Given the description of an element on the screen output the (x, y) to click on. 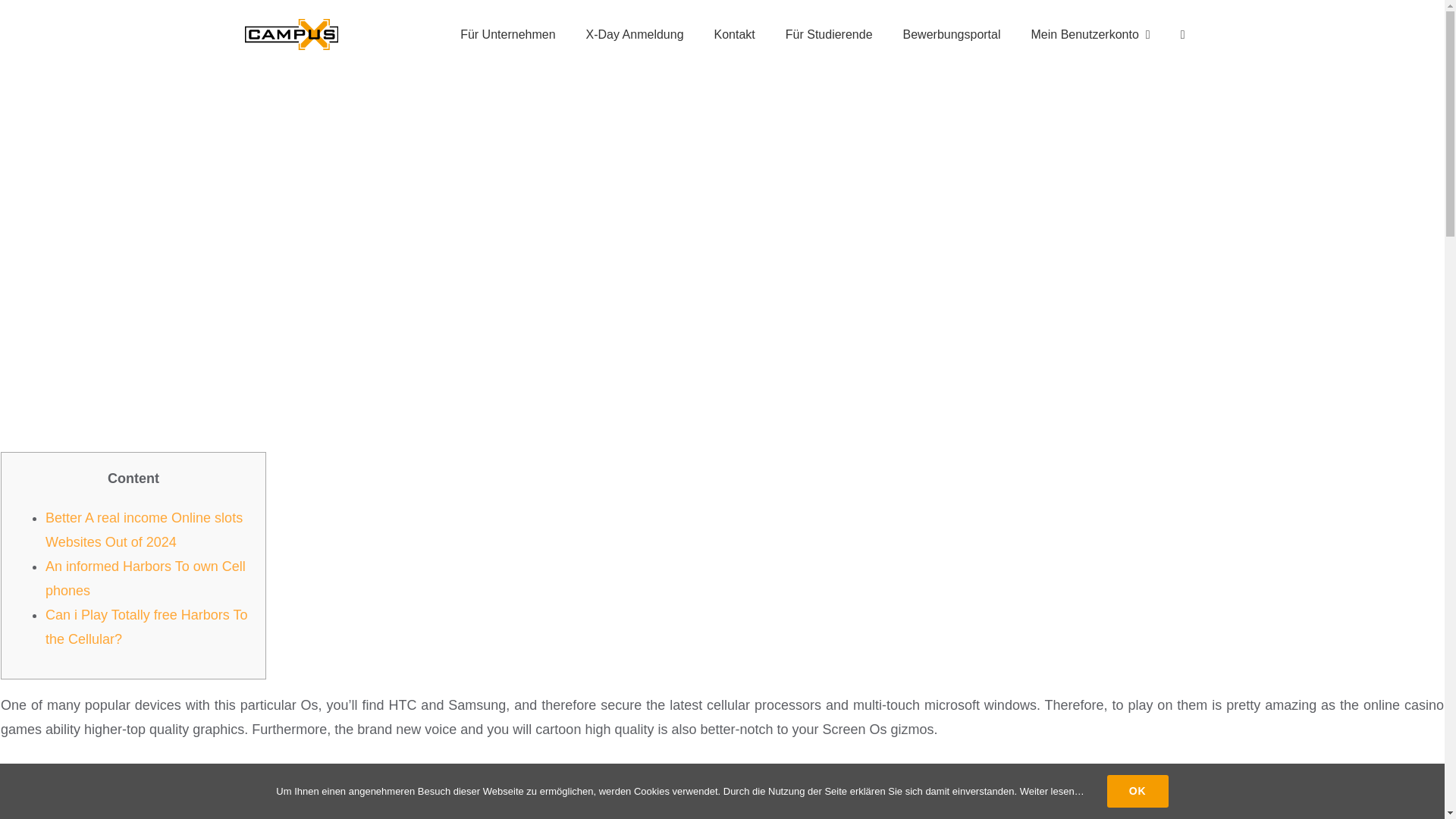
Mein Benutzerkonto (1091, 34)
An informed Harbors To own Cell phones (145, 578)
Better A real income Online slots Websites Out of 2024 (144, 529)
X-Day Anmeldung (634, 34)
Kontakt (734, 34)
Bewerbungsportal (952, 34)
Can i Play Totally free Harbors To the Cellular? (146, 627)
Anmelden (1097, 227)
